Given the description of an element on the screen output the (x, y) to click on. 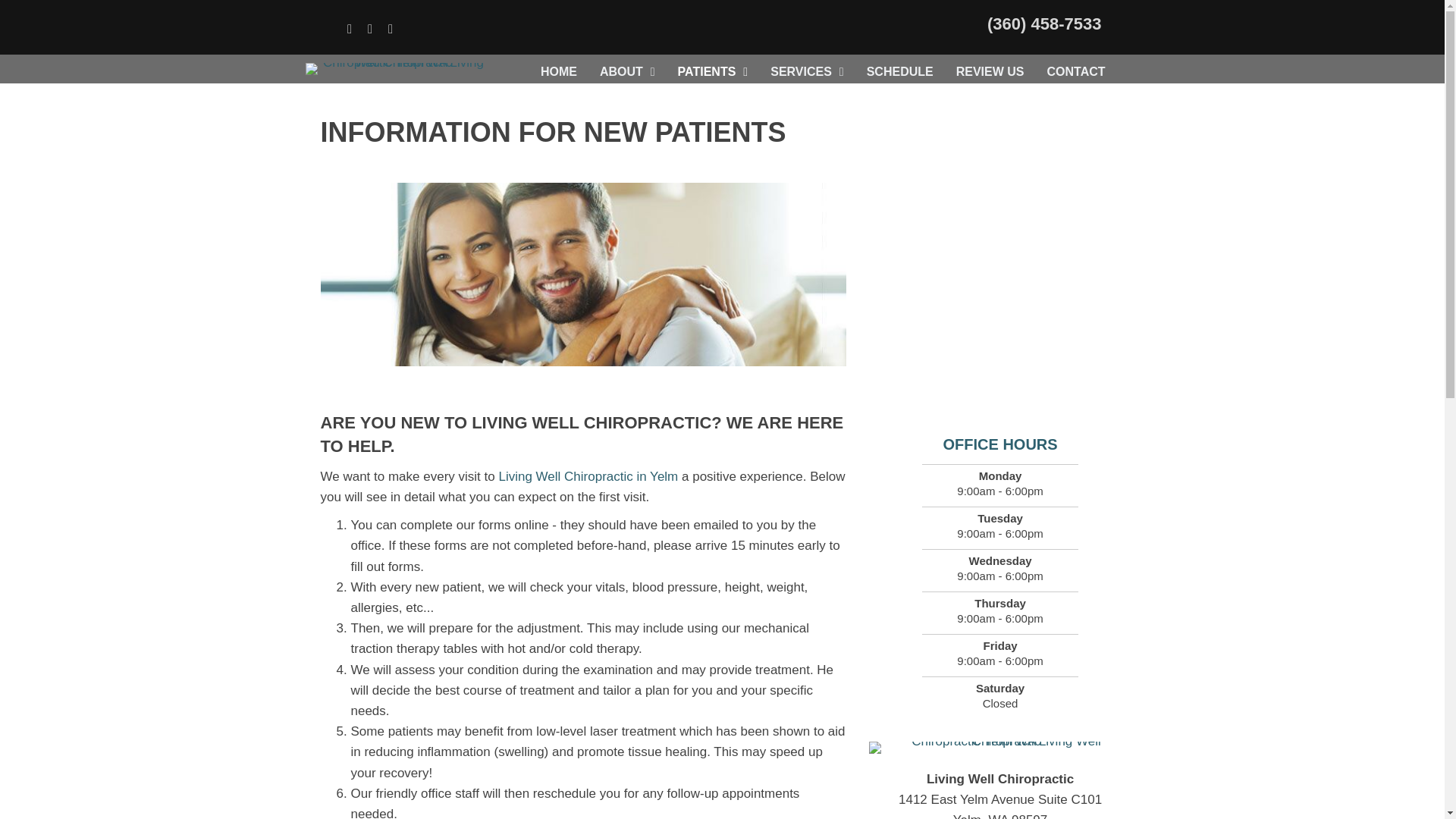
Chiropractic Yelm WA Living Well Chiropractic (1000, 747)
HOME (558, 71)
Chiropractic Yelm WA Living Well Chiropractic (381, 21)
Chiropractic Yelm WA New Patient (582, 274)
Chiropractic Yelm WA Living Well Chiropractic (396, 69)
ABOUT (627, 71)
SERVICES (806, 71)
Request An Appointment (1038, 20)
PATIENTS (712, 71)
